Given the description of an element on the screen output the (x, y) to click on. 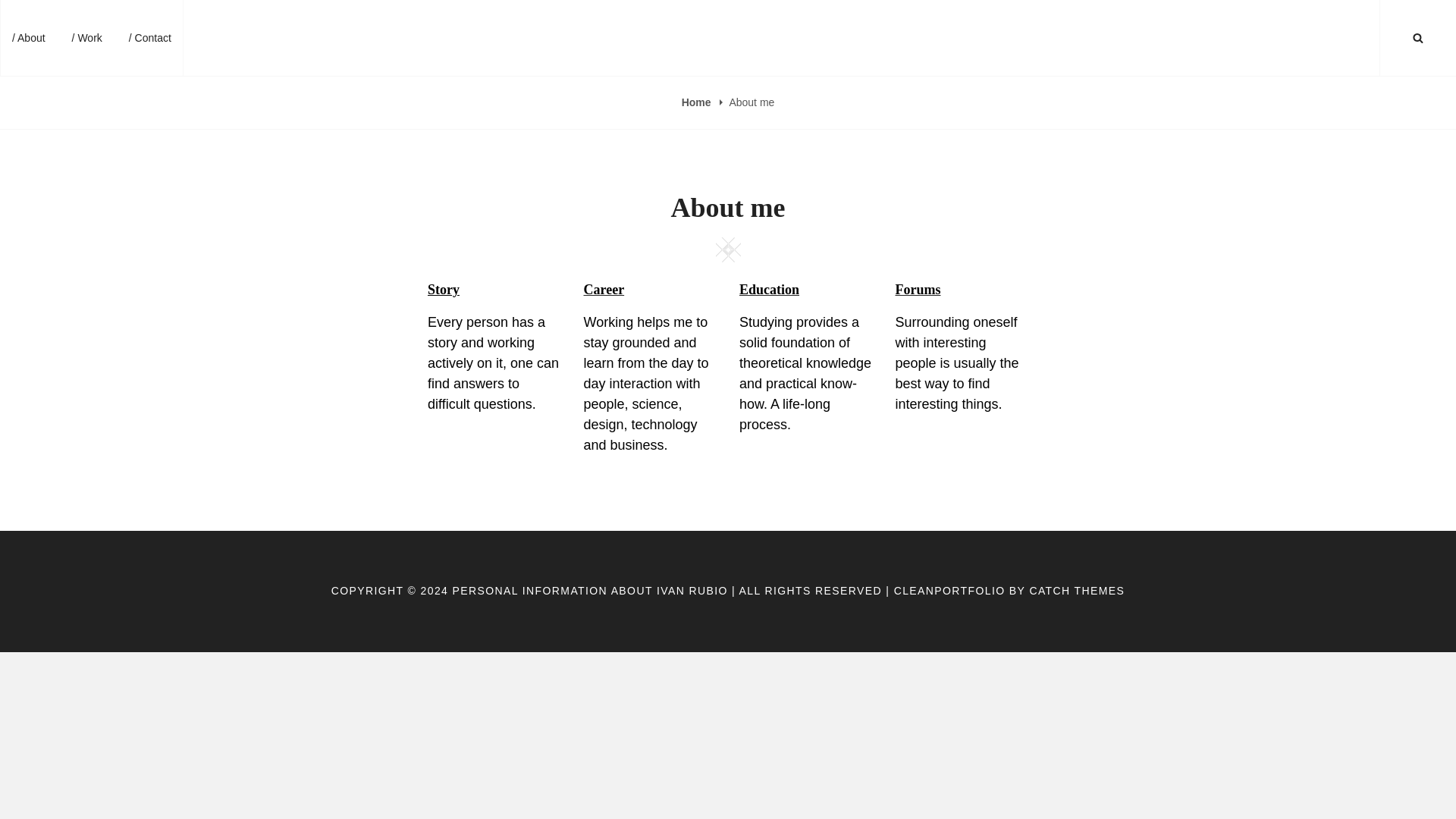
Story (444, 289)
Home (697, 102)
Forums (917, 289)
CATCH THEMES (1076, 590)
Career (603, 289)
Education (769, 289)
PERSONAL INFORMATION ABOUT IVAN RUBIO (590, 590)
SEARCH (1418, 37)
Personal information about Ivan Rubio (312, 37)
